Given the description of an element on the screen output the (x, y) to click on. 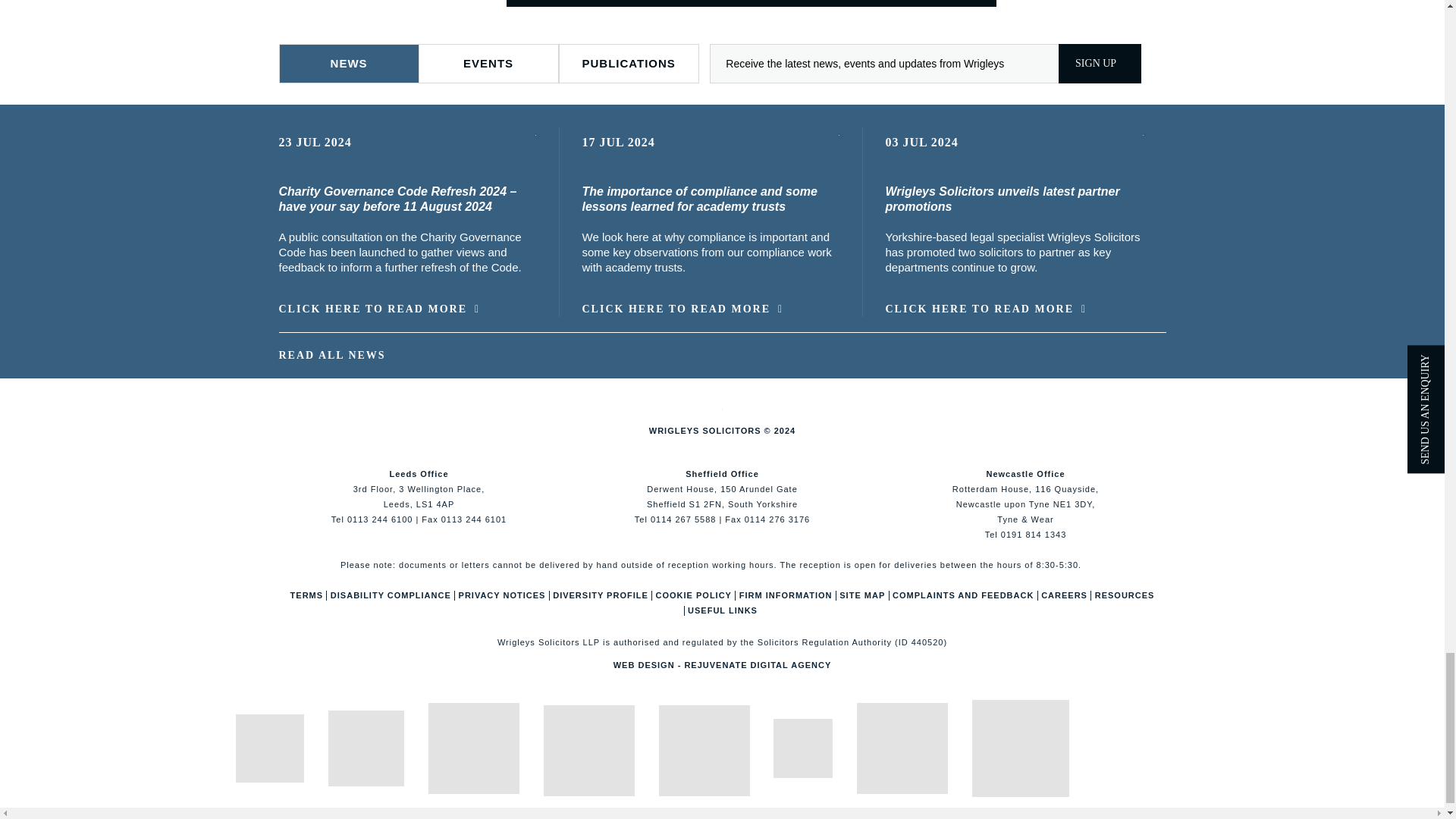
Top 25 Law Firms 2023 (802, 748)
Chambers High Net Worth (588, 750)
Disability Confident Logo (1020, 748)
Living Wage Logo (902, 747)
Top Ranked Chambers UK 2023- Leading Firm (703, 750)
Lexcel Practice Management Standard. Law Society Accredited (473, 747)
Web Design Leeds - Rejuvenate Productions (721, 664)
